Given the description of an element on the screen output the (x, y) to click on. 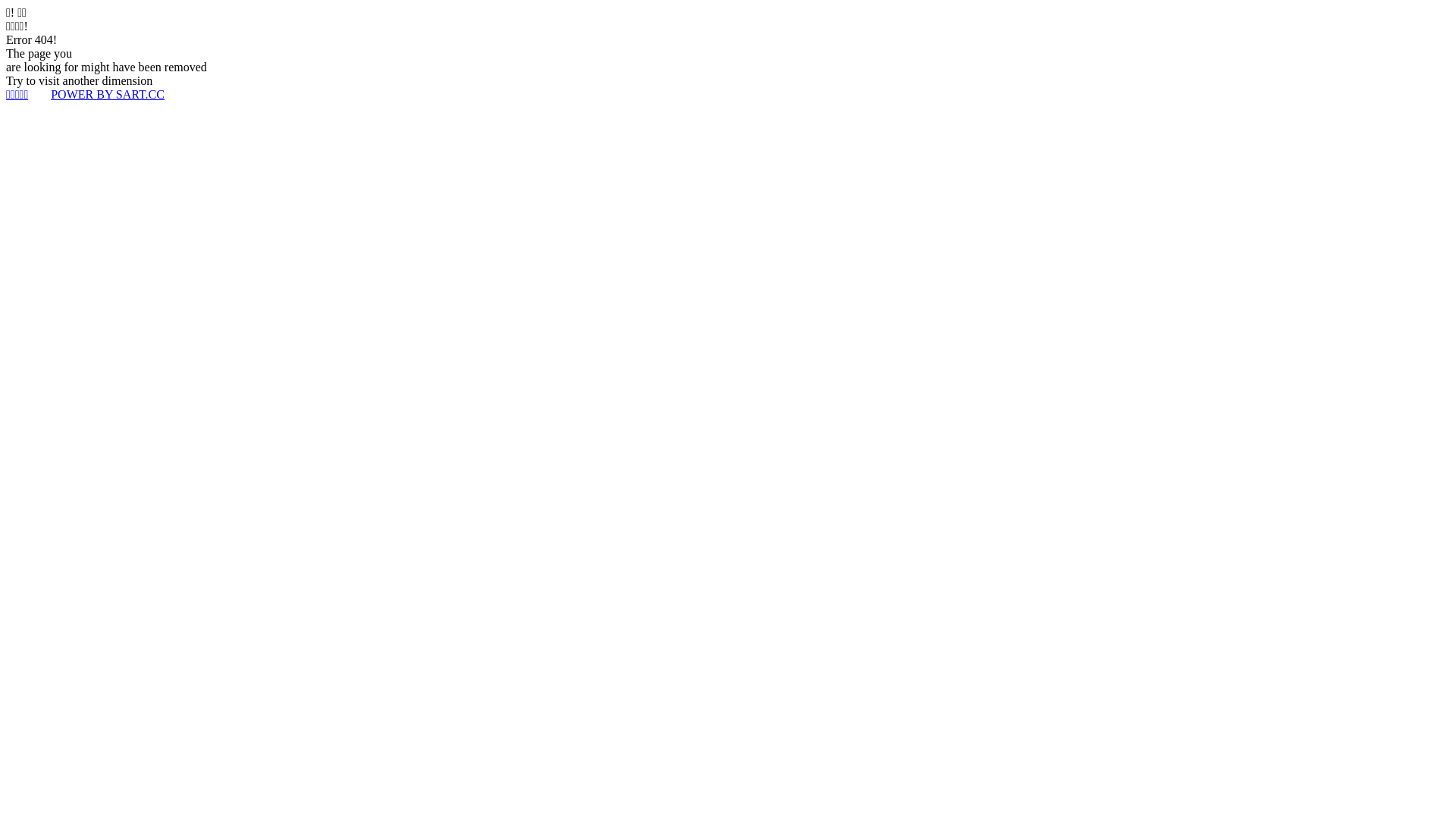
POWER BY SART.CC Element type: text (107, 93)
